Given the description of an element on the screen output the (x, y) to click on. 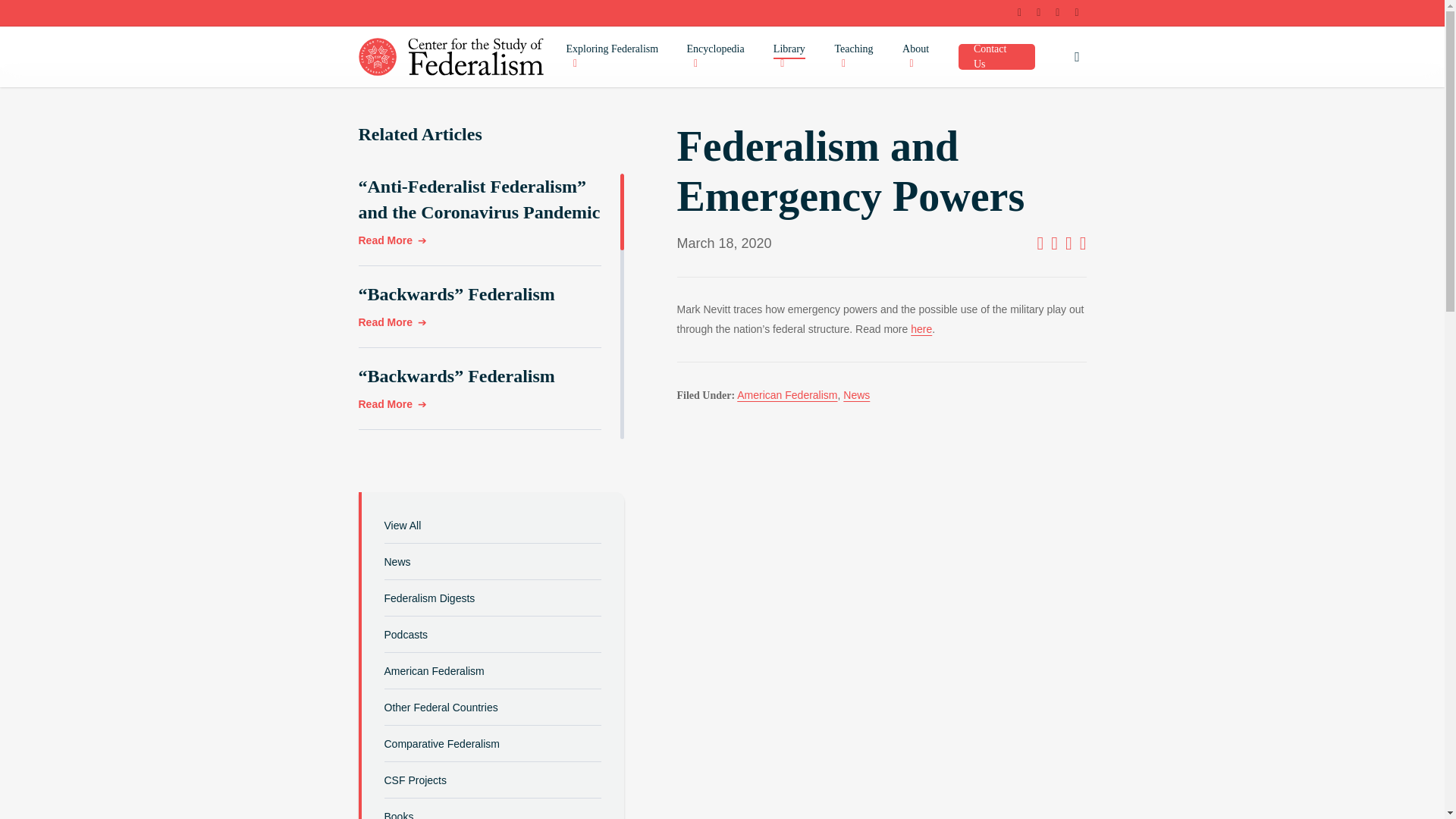
Library (796, 56)
Encyclopedia (722, 56)
Exploring Federalism (618, 56)
